Given the description of an element on the screen output the (x, y) to click on. 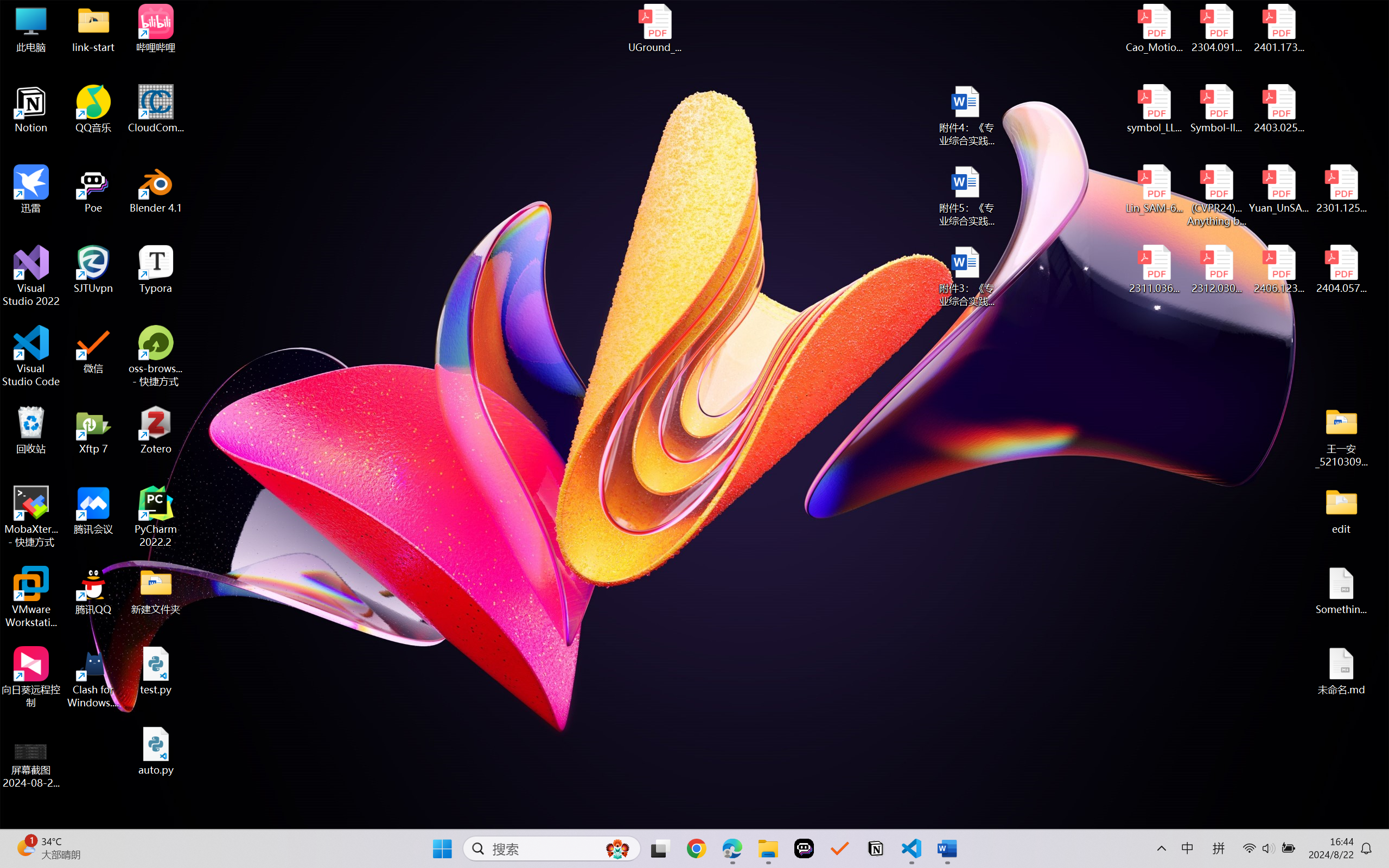
SJTUvpn (93, 269)
auto.py (156, 751)
Google Chrome (696, 848)
Visual Studio 2022 (31, 276)
2406.12373v2.pdf (1278, 269)
CloudCompare (156, 109)
